Given the description of an element on the screen output the (x, y) to click on. 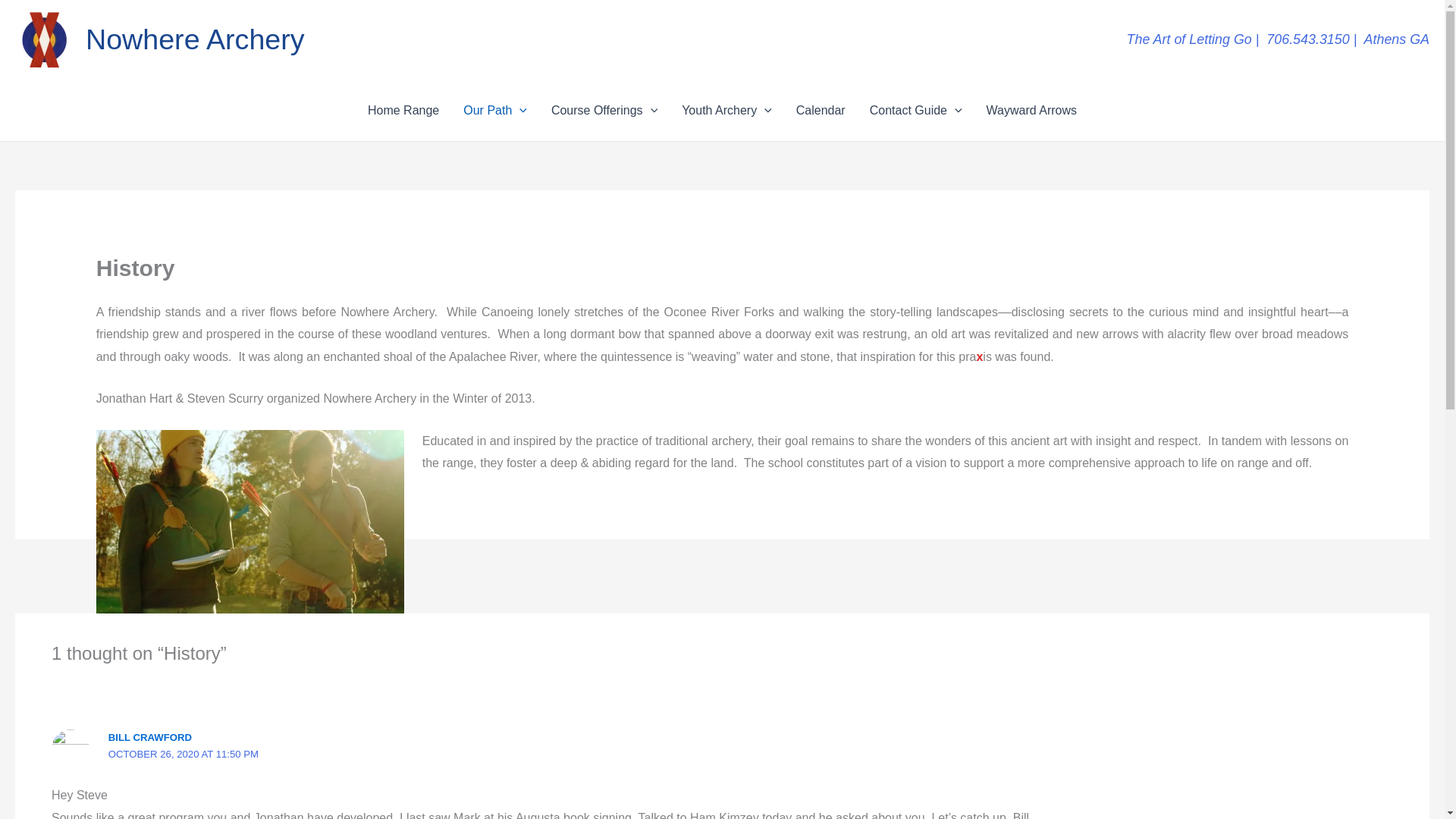
Home Range (403, 110)
Course Offerings (603, 110)
Nowhere Archery (194, 39)
Youth Archery (726, 110)
Our Path (494, 110)
Wayward Arrows (1031, 110)
Calendar (820, 110)
Contact Guide (915, 110)
